Given the description of an element on the screen output the (x, y) to click on. 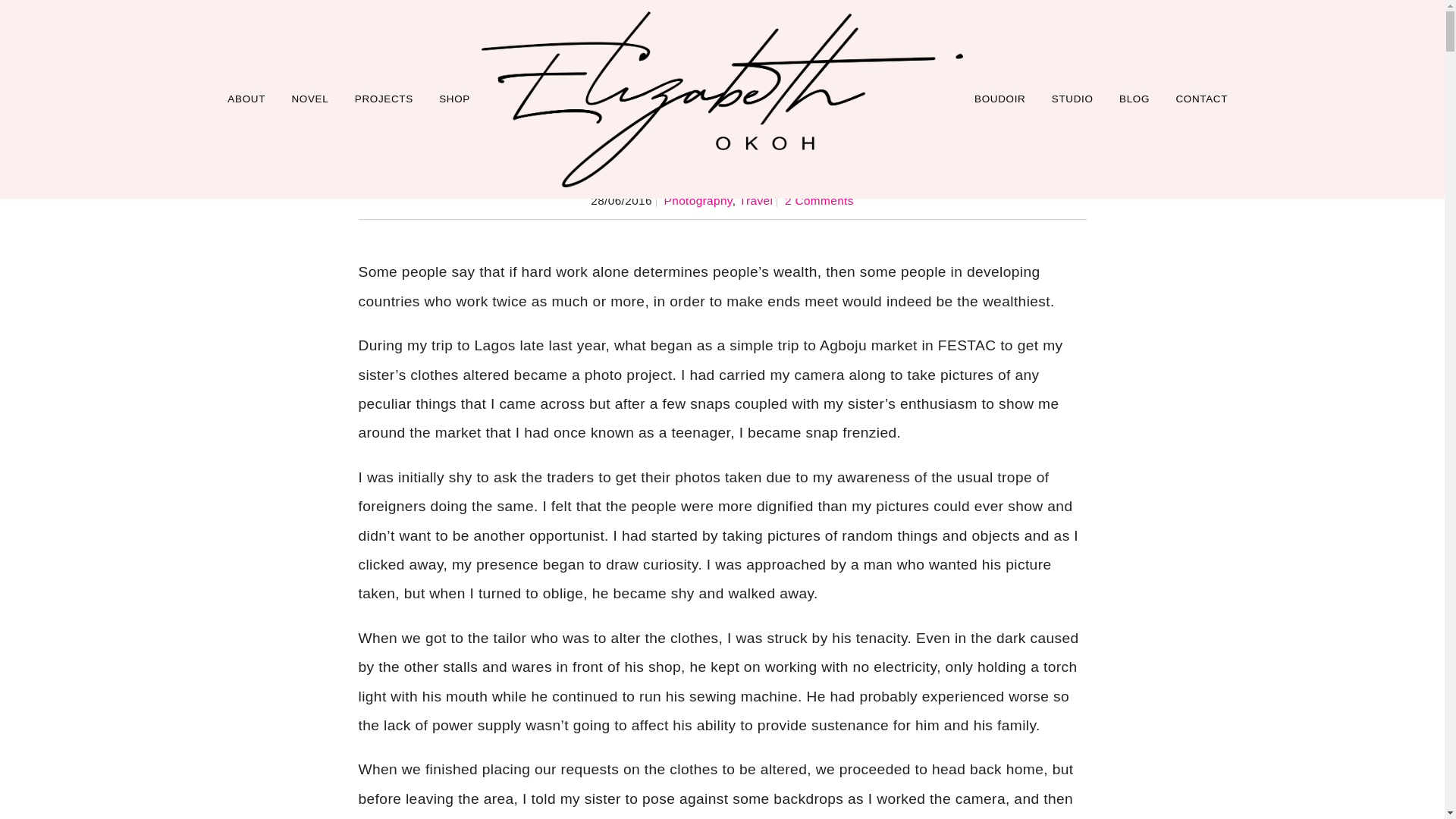
ABOUT (245, 98)
BLOG (1134, 98)
PROJECTS (384, 98)
SHOP (454, 98)
2 Comments (818, 200)
STUDIO (1073, 98)
BOUDOIR (999, 98)
Elizabeth Okoh (721, 99)
Travel (756, 200)
Honest Living (721, 164)
Photography (697, 200)
NOVEL (309, 98)
Honest Living (721, 164)
CONTACT (1201, 98)
